Given the description of an element on the screen output the (x, y) to click on. 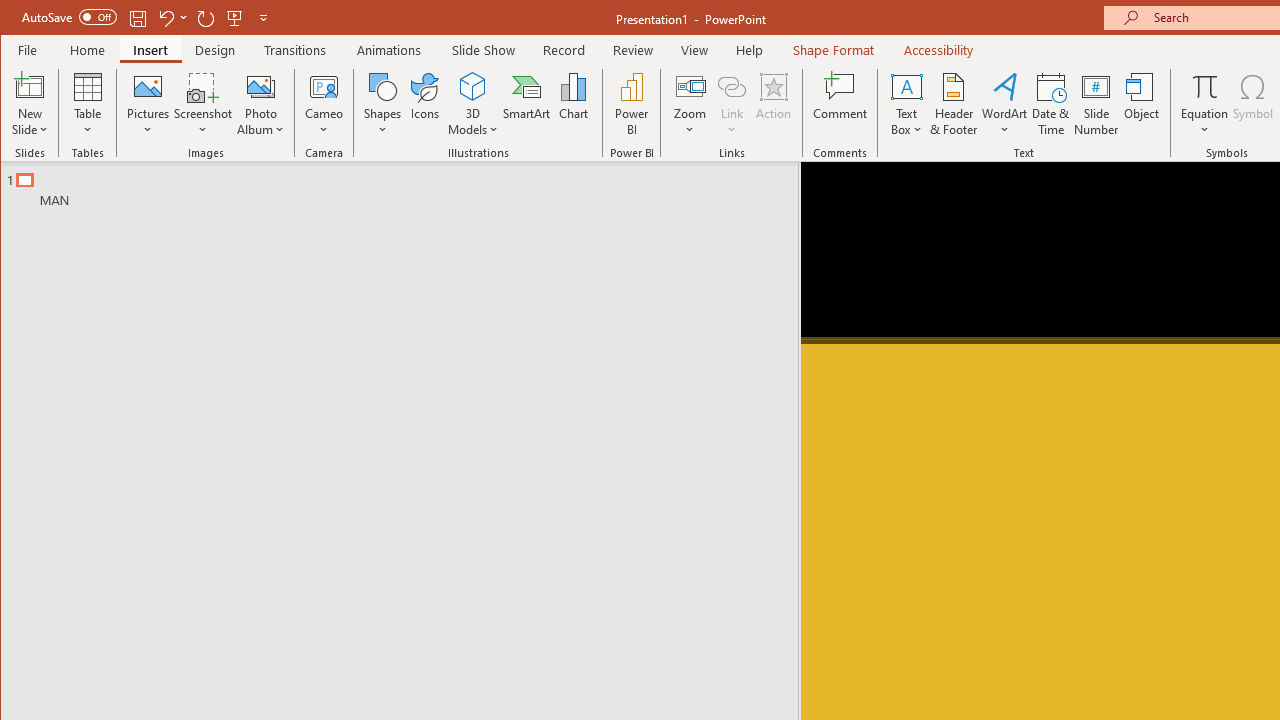
Header & Footer... (954, 104)
Draw Horizontal Text Box (906, 86)
Photo Album... (260, 104)
Icons (424, 104)
New Photo Album... (260, 86)
